Given the description of an element on the screen output the (x, y) to click on. 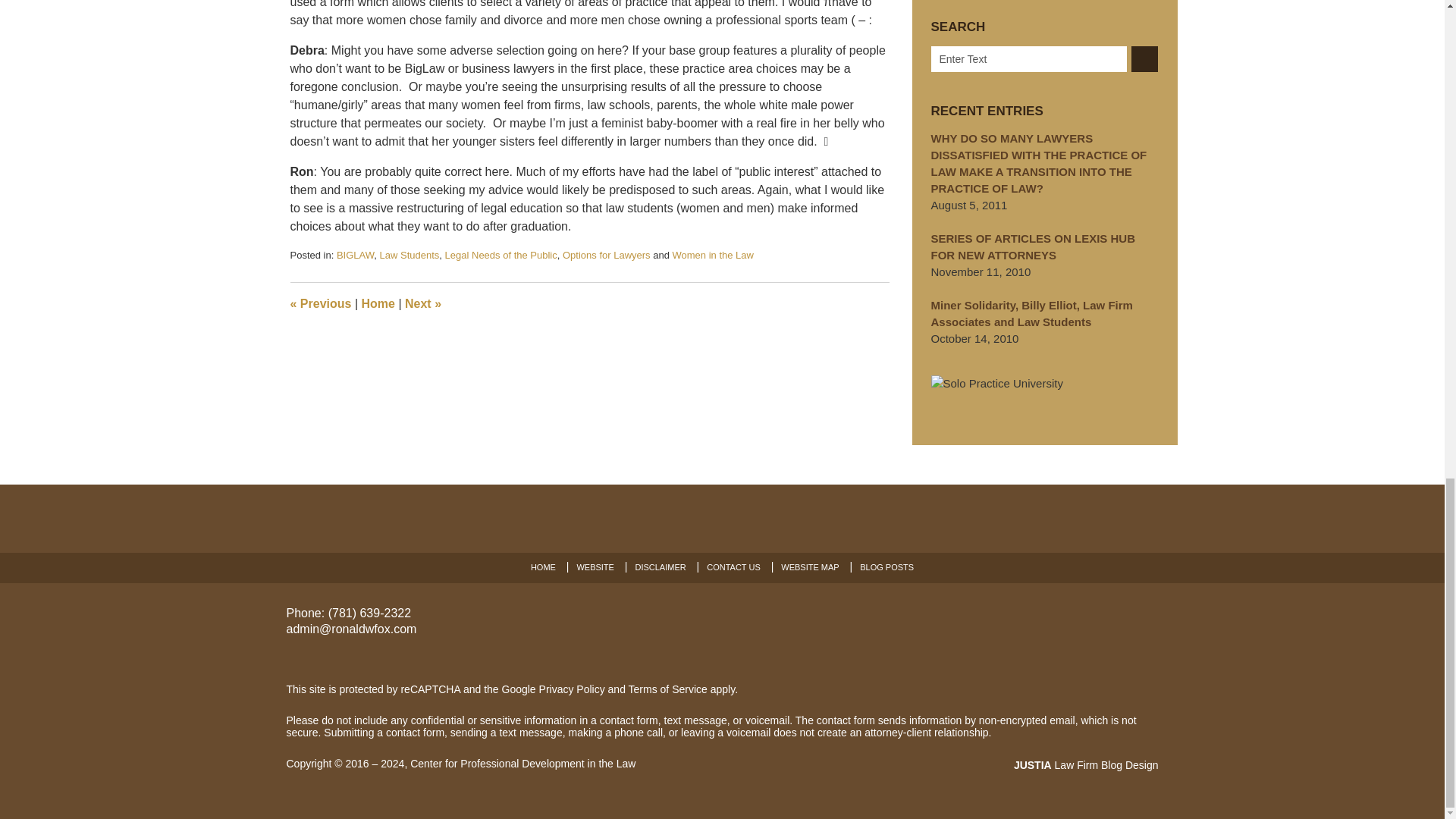
Legal Needs of the Public (501, 255)
Home (377, 303)
View all posts in Options for Lawyers (606, 255)
Can We Expect the Legal Media to Think Outside the Box? (422, 303)
Options for Lawyers (606, 255)
View all posts in BIGLAW (355, 255)
View all posts in Legal Needs of the Public (501, 255)
View all posts in Law Students (409, 255)
View all posts in Women in the Law (711, 255)
Law Students (409, 255)
Women in the Law (711, 255)
BIGLAW (355, 255)
